Given the description of an element on the screen output the (x, y) to click on. 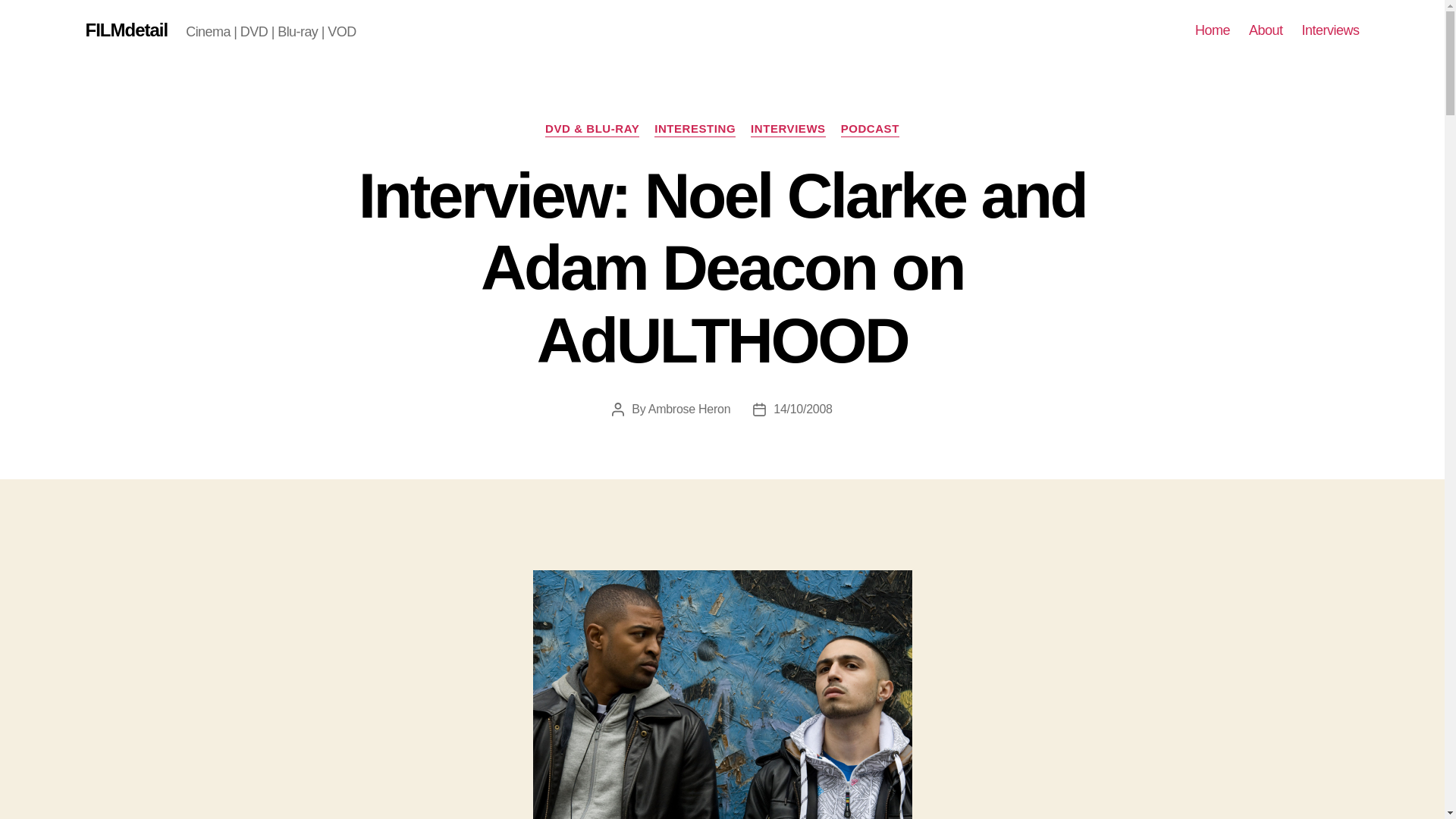
FILMdetail (125, 30)
Noel and Adam in AdULTHOOD (721, 694)
INTERVIEWS (788, 129)
Ambrose Heron (688, 408)
PODCAST (870, 129)
Interviews (1329, 30)
Home (1212, 30)
INTERESTING (694, 129)
About (1265, 30)
